Given the description of an element on the screen output the (x, y) to click on. 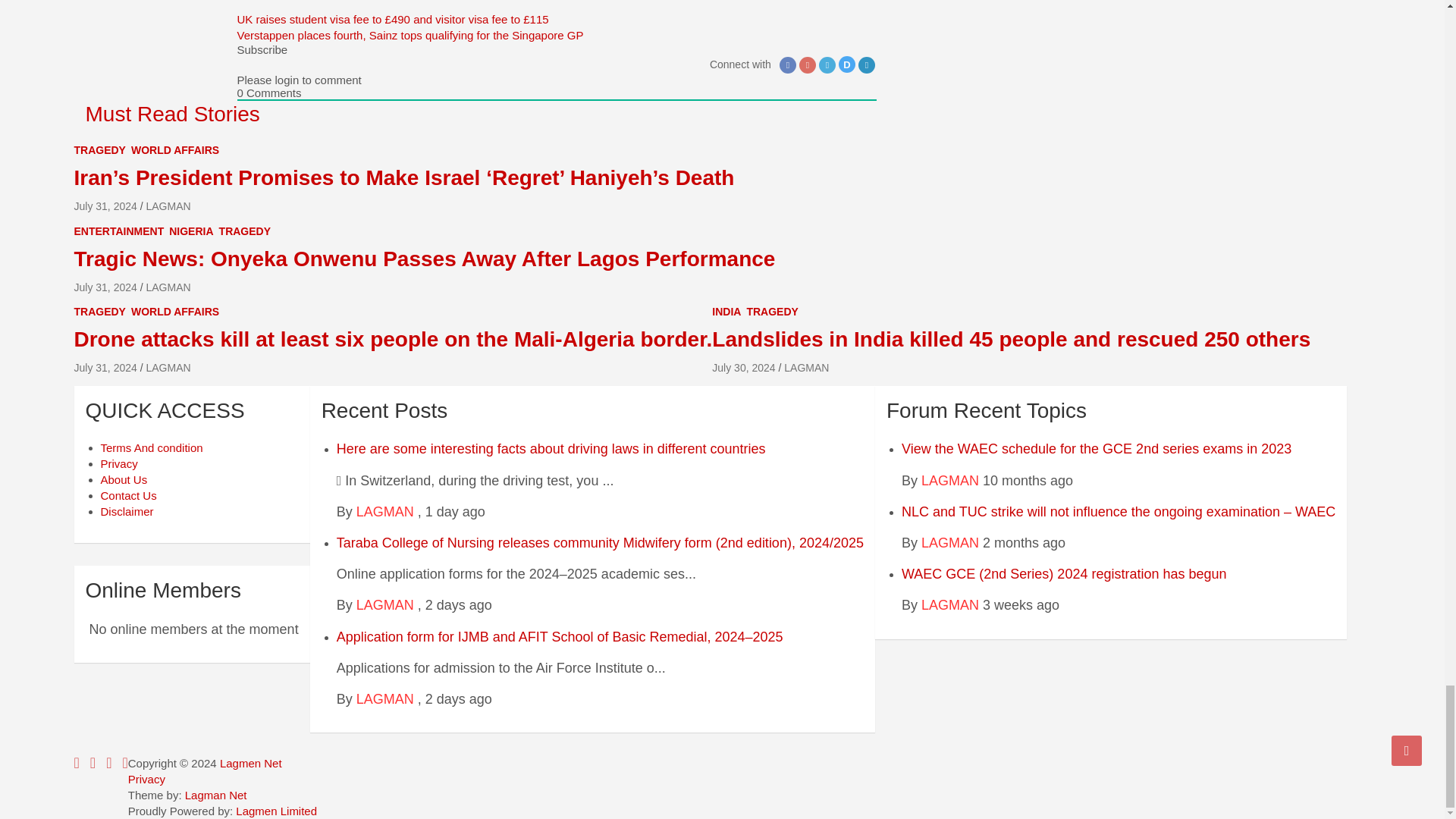
LAGMAN (384, 511)
LAGMAN (384, 604)
Landslides in India killed 45 people and rescued 250 others (742, 367)
